Given the description of an element on the screen output the (x, y) to click on. 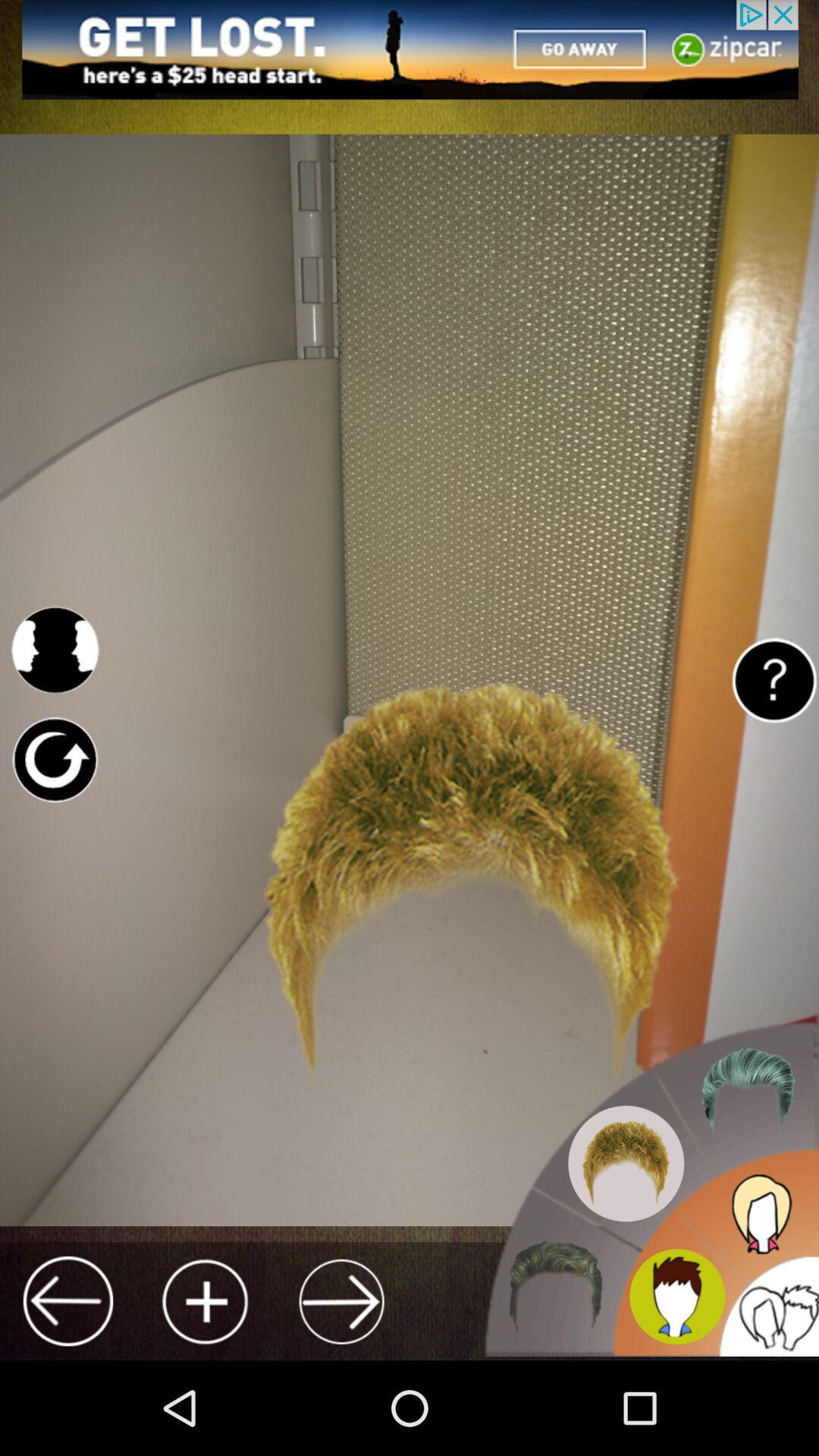
next hairstyle (341, 1301)
